Given the description of an element on the screen output the (x, y) to click on. 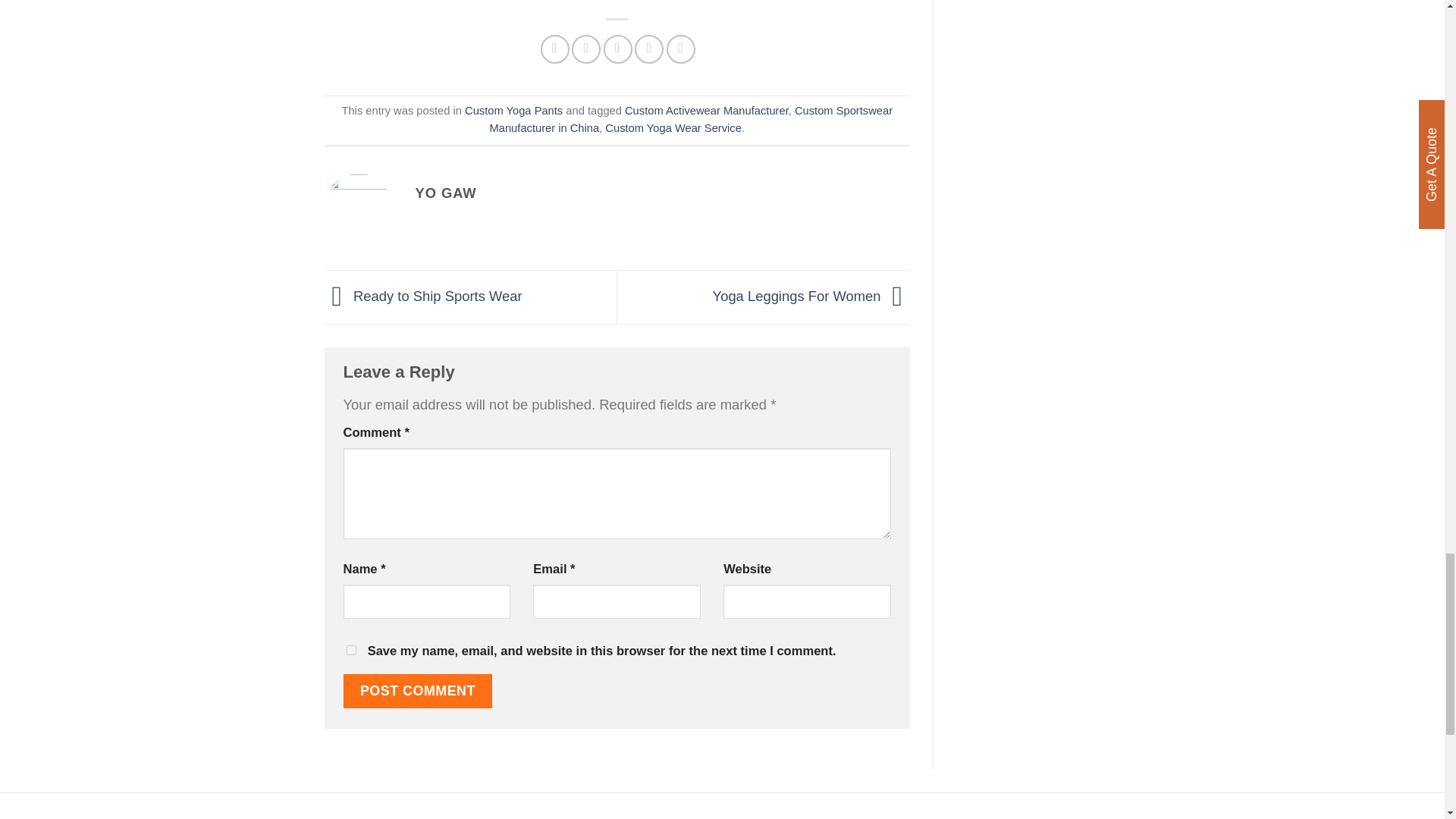
Pin on Pinterest (648, 49)
Share on Twitter (585, 49)
Custom Yoga Pants (513, 110)
yes (350, 650)
Ready to Ship Sports Wear (423, 295)
Custom Sportswear Manufacturer in China (691, 119)
Share on LinkedIn (680, 49)
Custom Yoga Wear Service (673, 128)
Yoga Leggings For Women (811, 295)
Post Comment (417, 691)
Email to a Friend (617, 49)
Share on Facebook (554, 49)
Custom Activewear Manufacturer (706, 110)
Post Comment (417, 691)
